Given the description of an element on the screen output the (x, y) to click on. 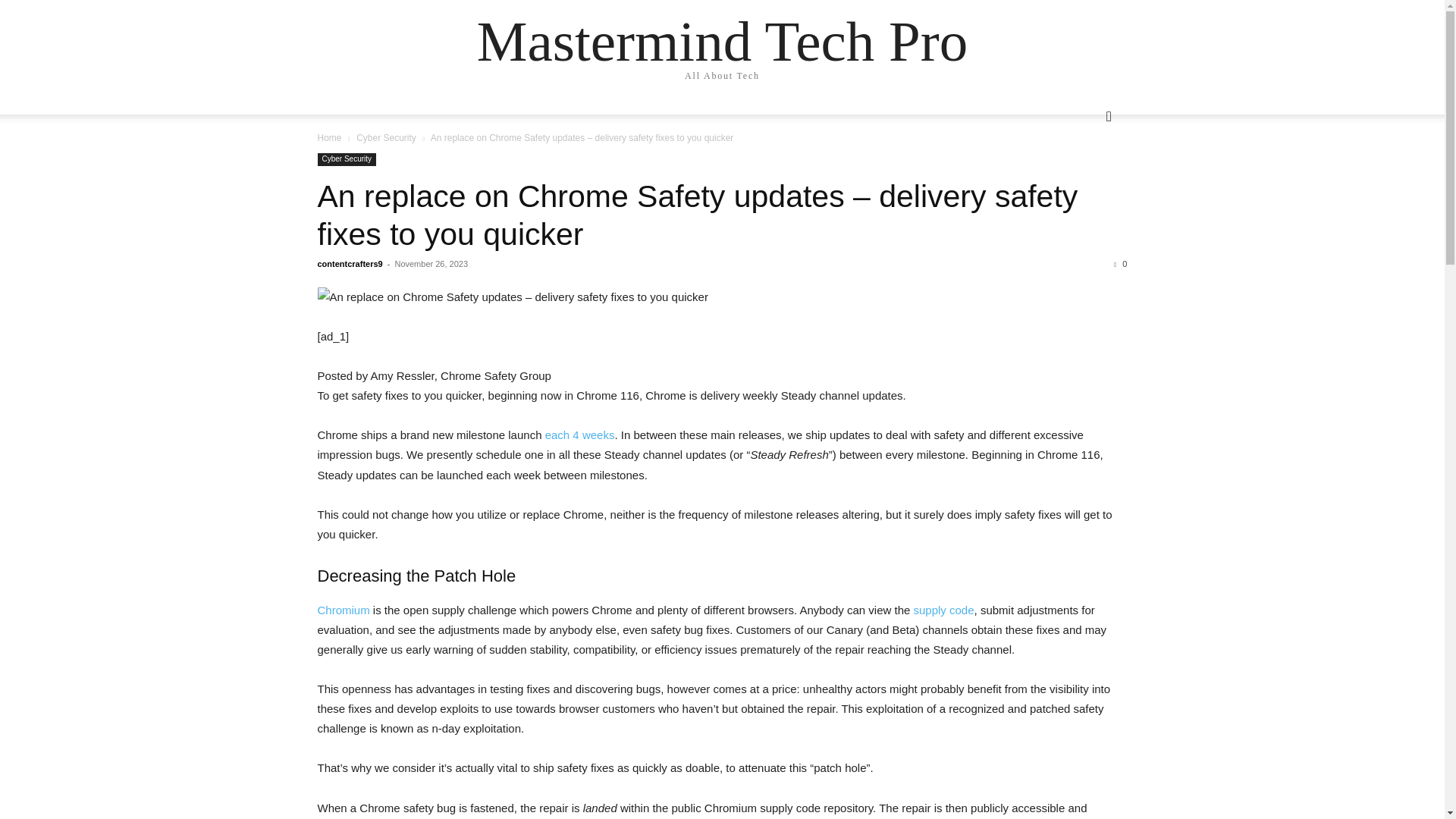
Mastermind Tech Pro (722, 41)
Home (328, 137)
View all posts in Cyber Security (386, 137)
0 (1119, 263)
contentcrafters9 (349, 263)
Search (1085, 177)
each 4 weeks (579, 434)
Chromium (343, 609)
supply code (943, 609)
Cyber Security (386, 137)
